Given the description of an element on the screen output the (x, y) to click on. 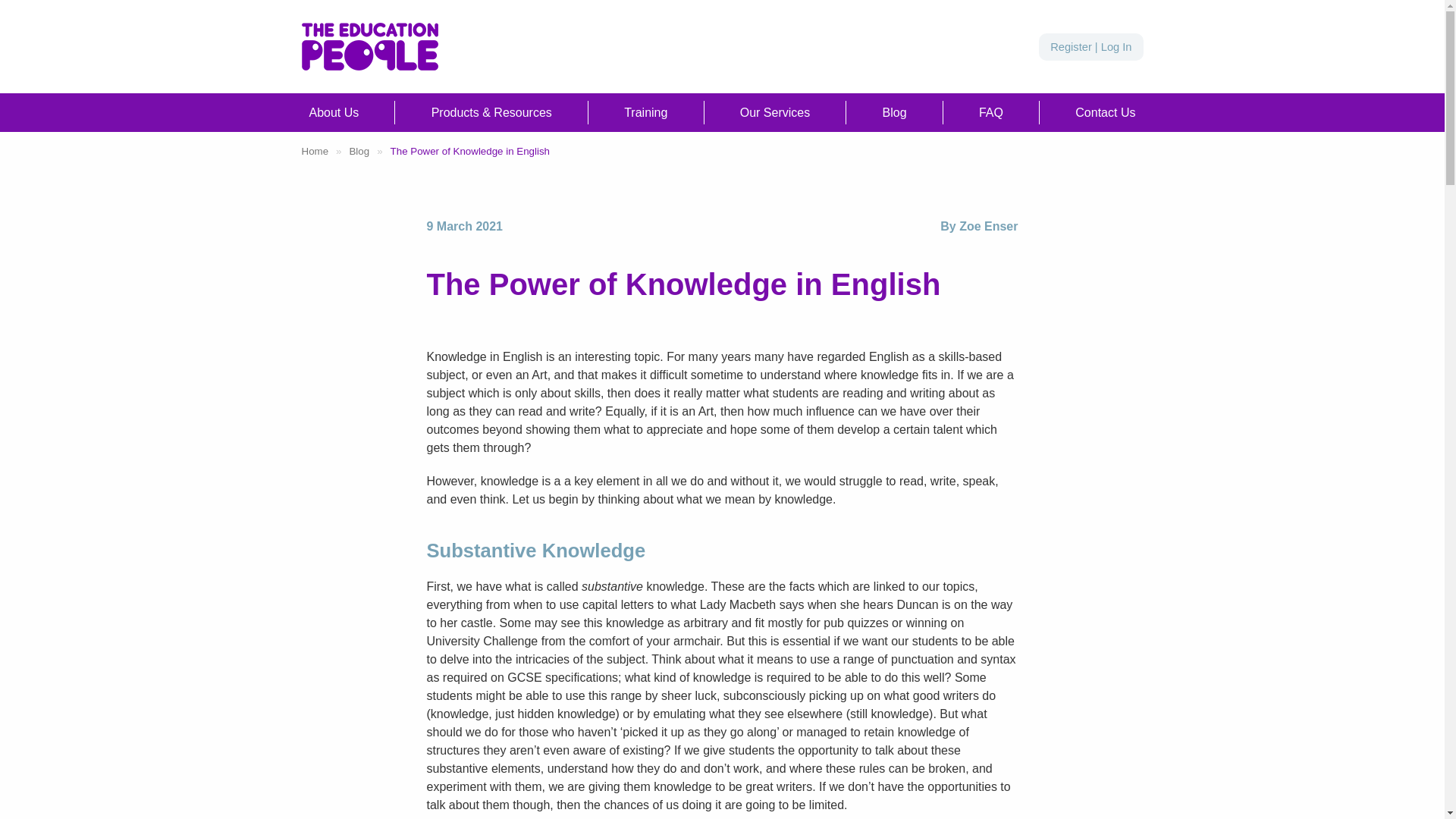
Blog (894, 112)
Our Services (774, 112)
About Us (333, 112)
